Given the description of an element on the screen output the (x, y) to click on. 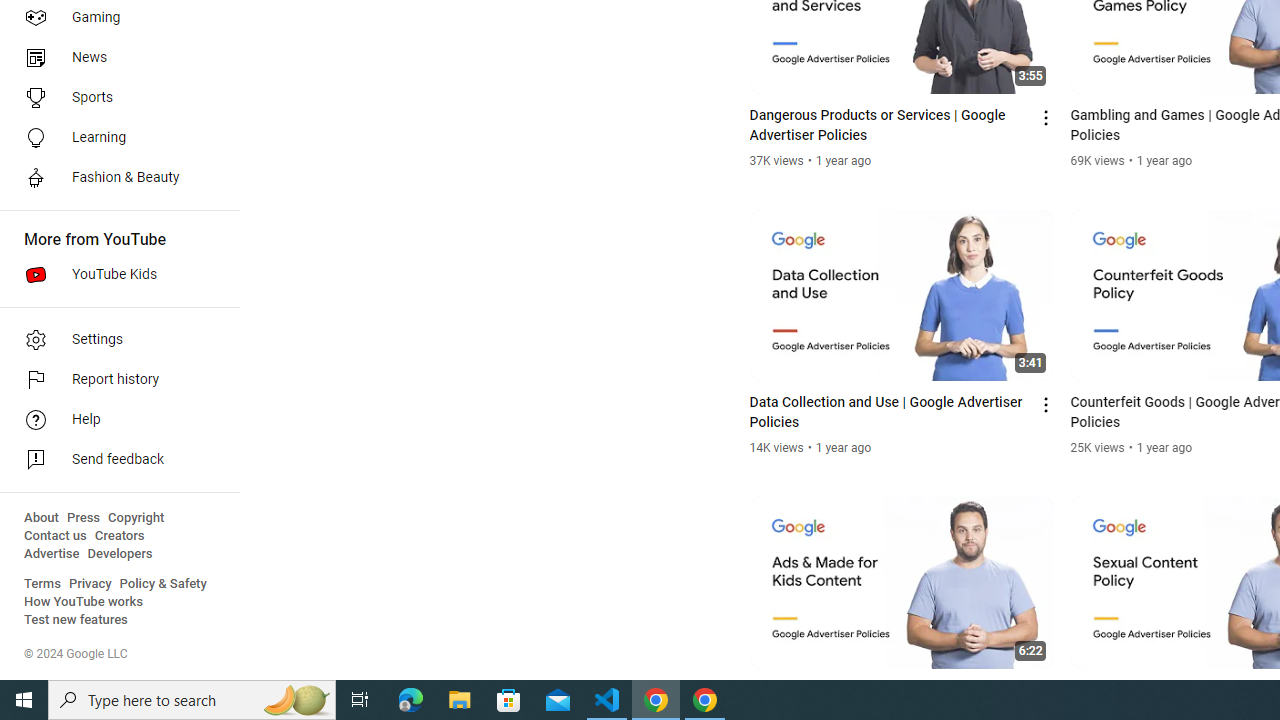
Report history (113, 380)
Sports (113, 97)
Test new features (76, 620)
Developers (120, 554)
Contact us (55, 536)
YouTube Kids (113, 274)
Send feedback (113, 459)
Press (83, 518)
News (113, 57)
